Given the description of an element on the screen output the (x, y) to click on. 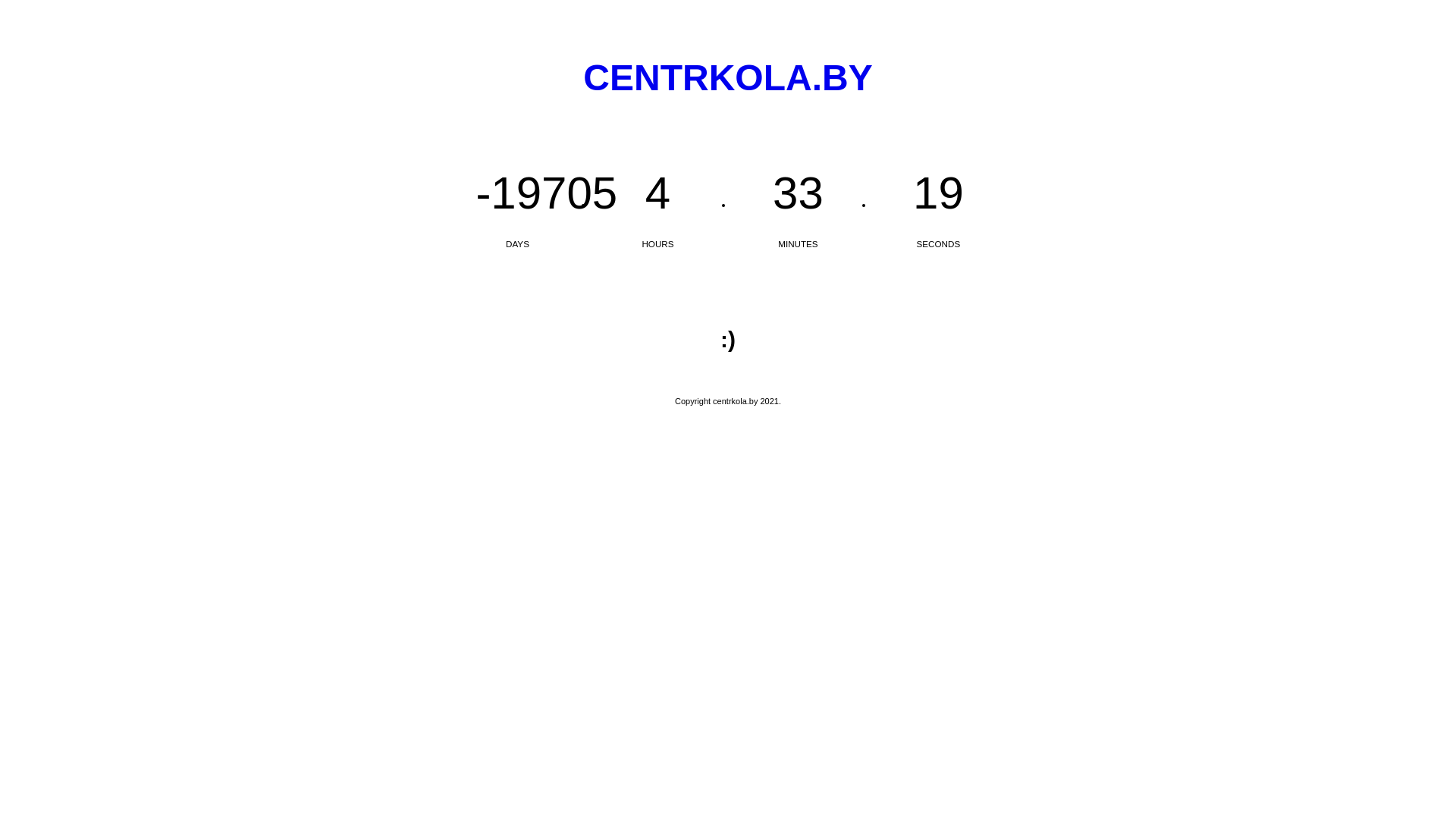
CENTRKOLA.BY Element type: text (727, 77)
